Given the description of an element on the screen output the (x, y) to click on. 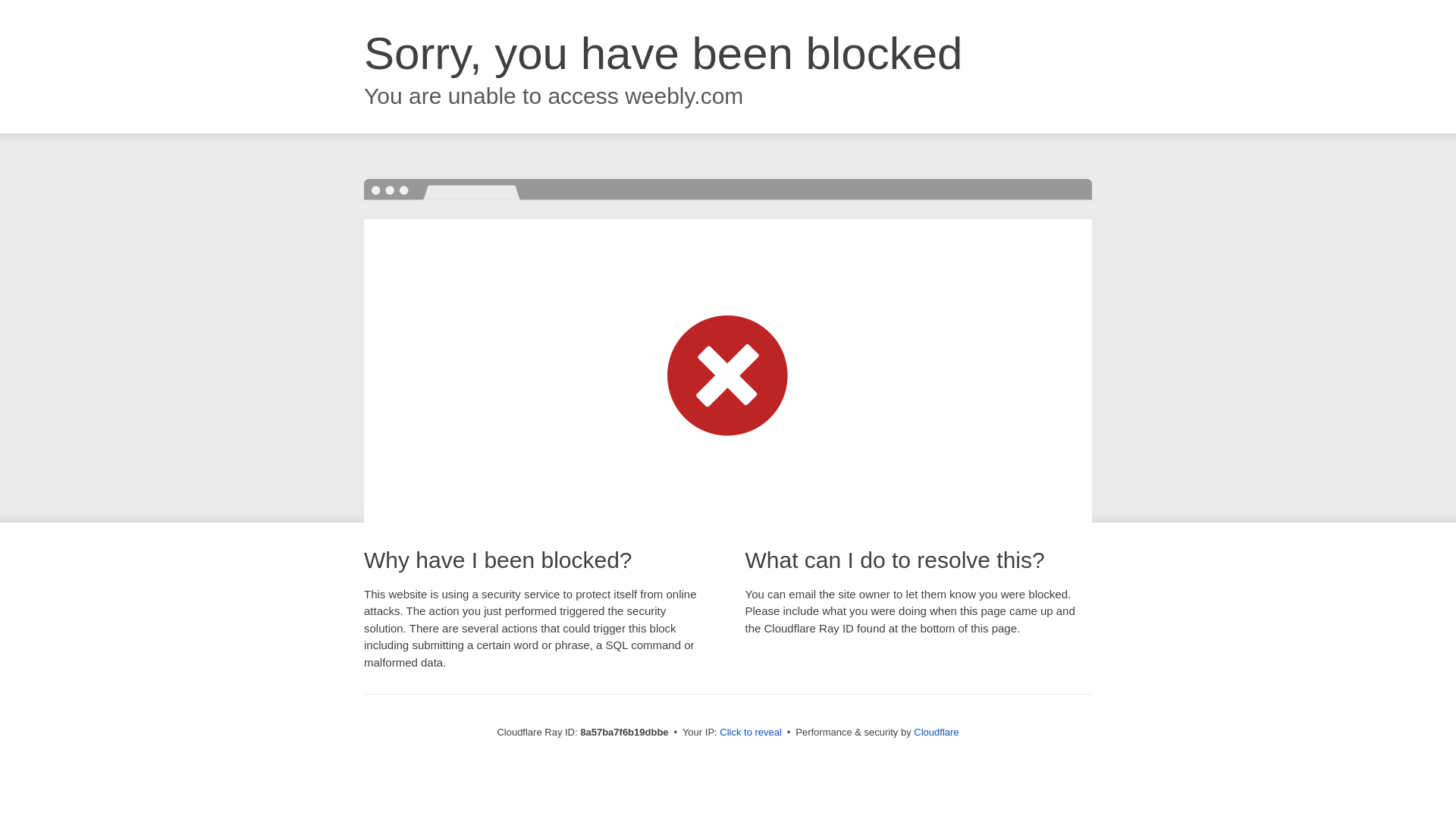
Cloudflare (936, 731)
Click to reveal (750, 732)
